Given the description of an element on the screen output the (x, y) to click on. 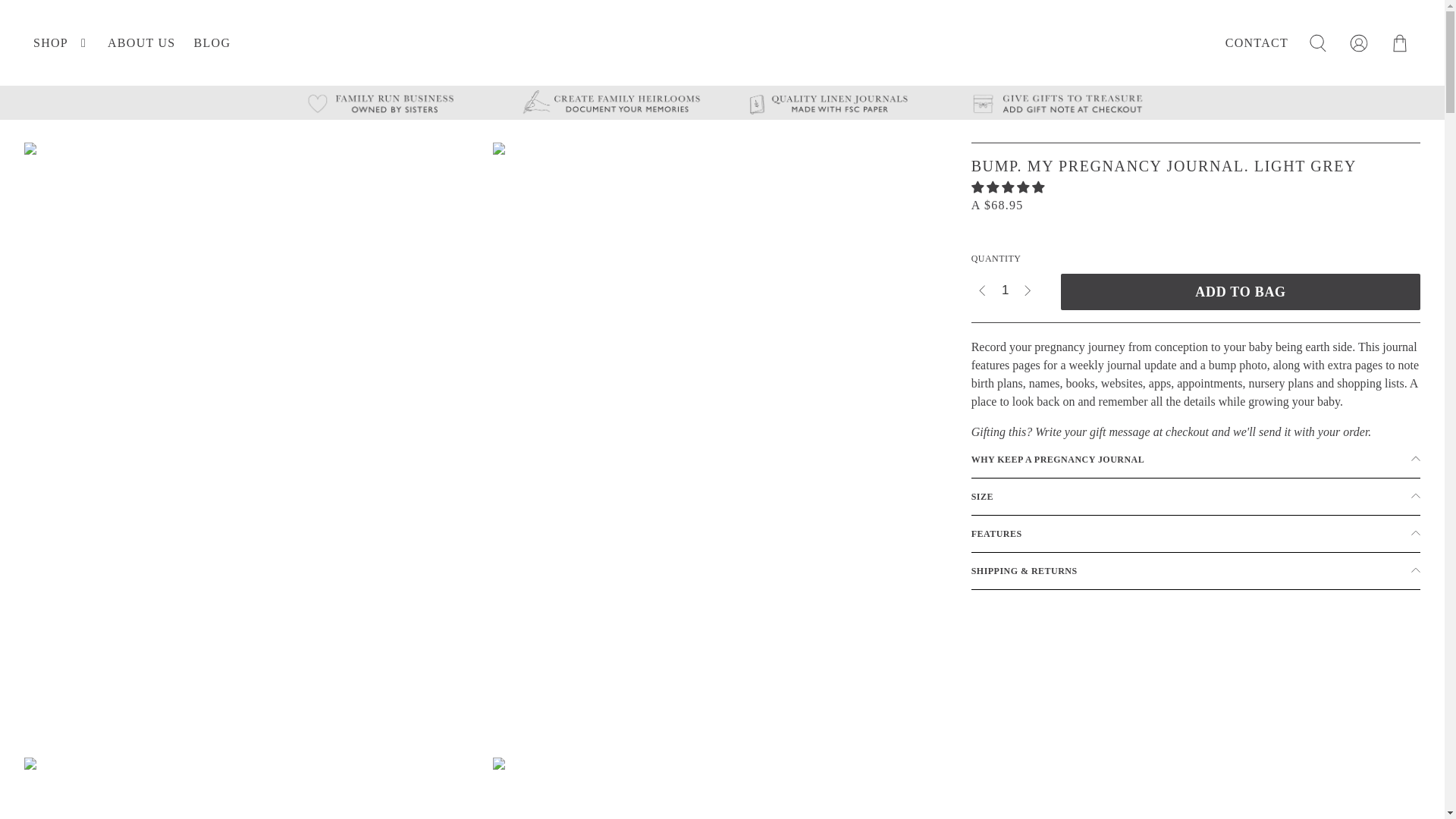
CONTACT (1256, 42)
BLOG (212, 42)
ABOUT US (141, 42)
Write To Me AU (727, 42)
SHOP (61, 42)
